Given the description of an element on the screen output the (x, y) to click on. 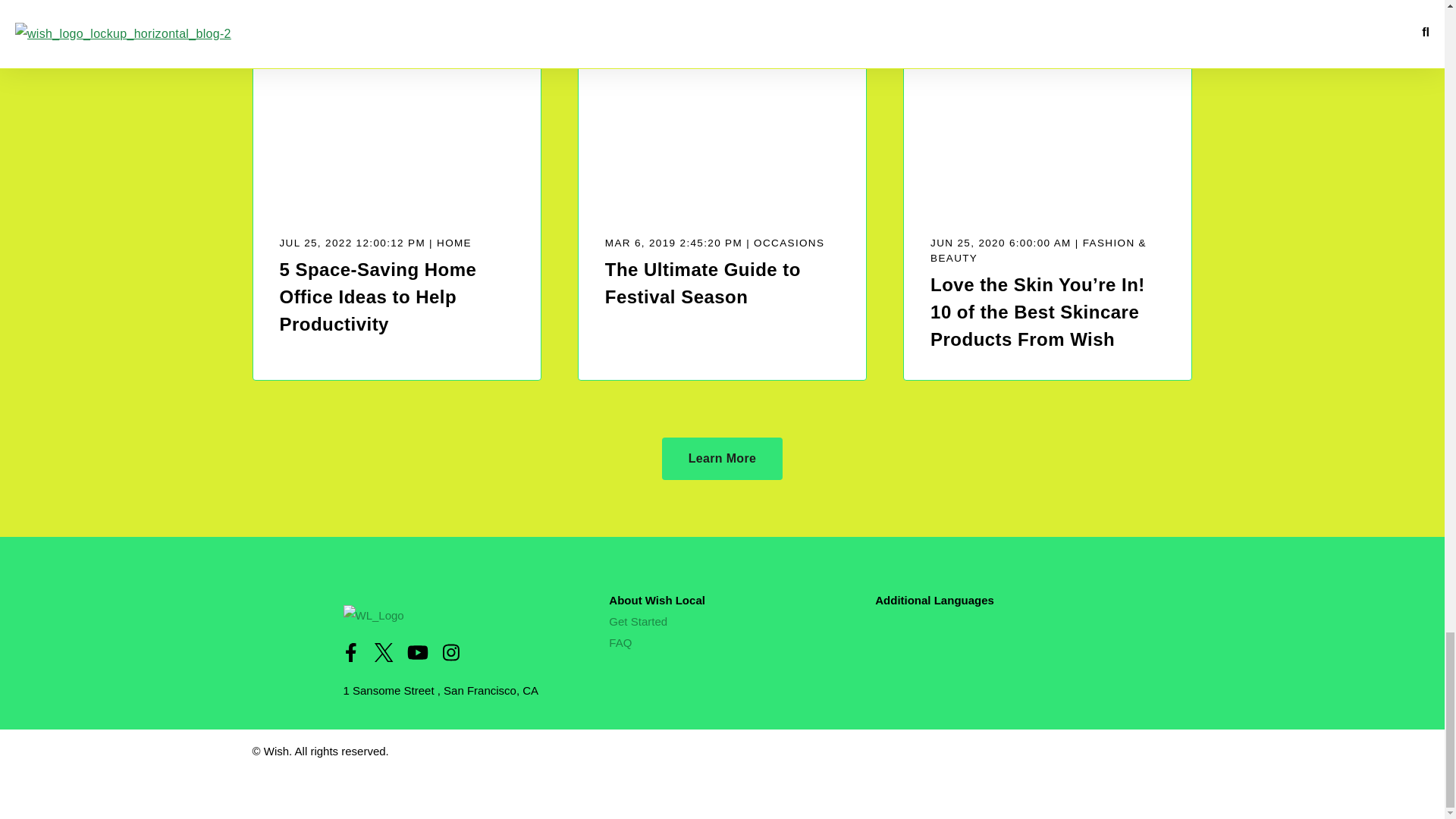
Learn More (722, 458)
FAQ (619, 642)
Get Started (637, 621)
